Given the description of an element on the screen output the (x, y) to click on. 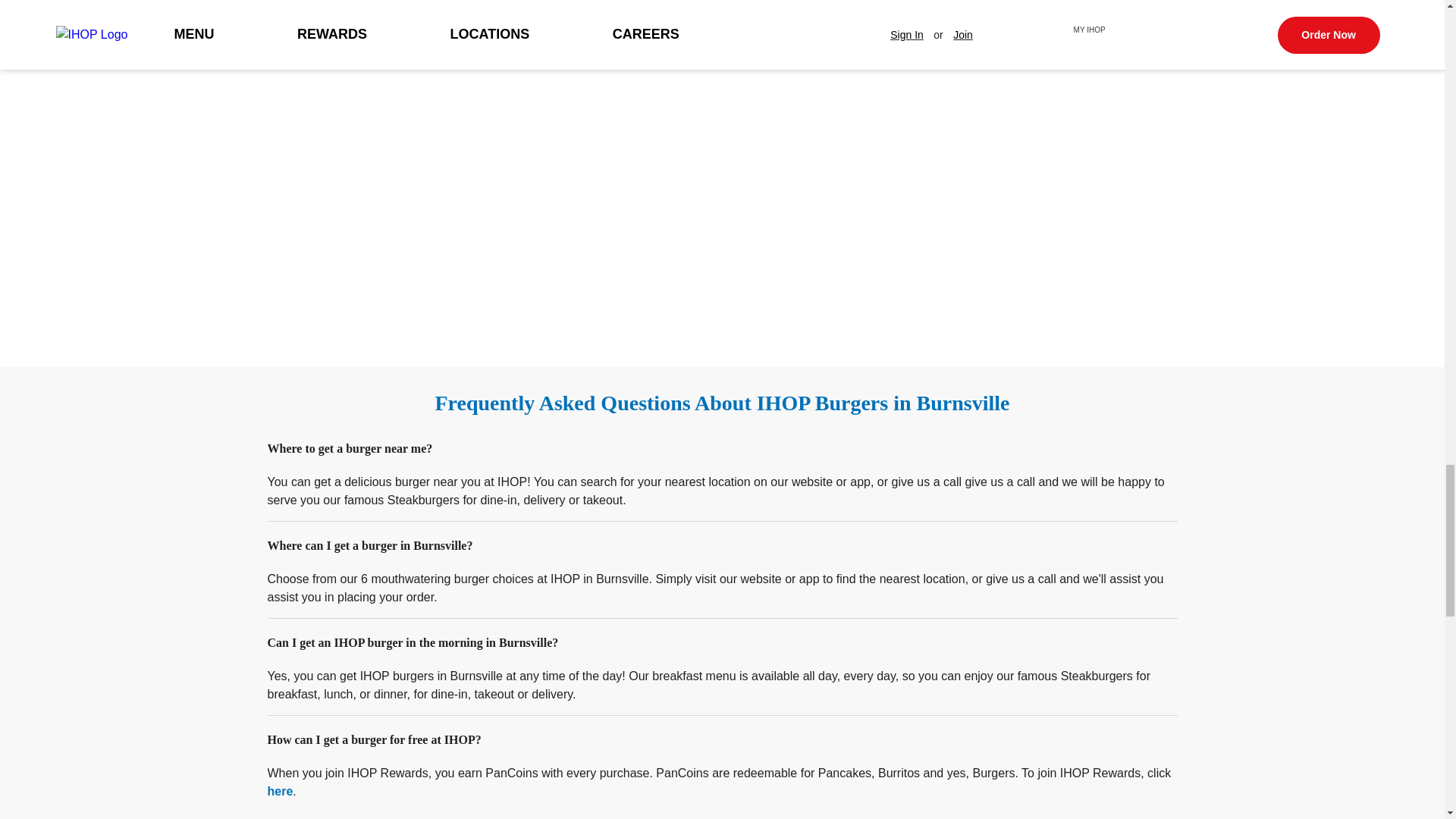
here (279, 790)
